Given the description of an element on the screen output the (x, y) to click on. 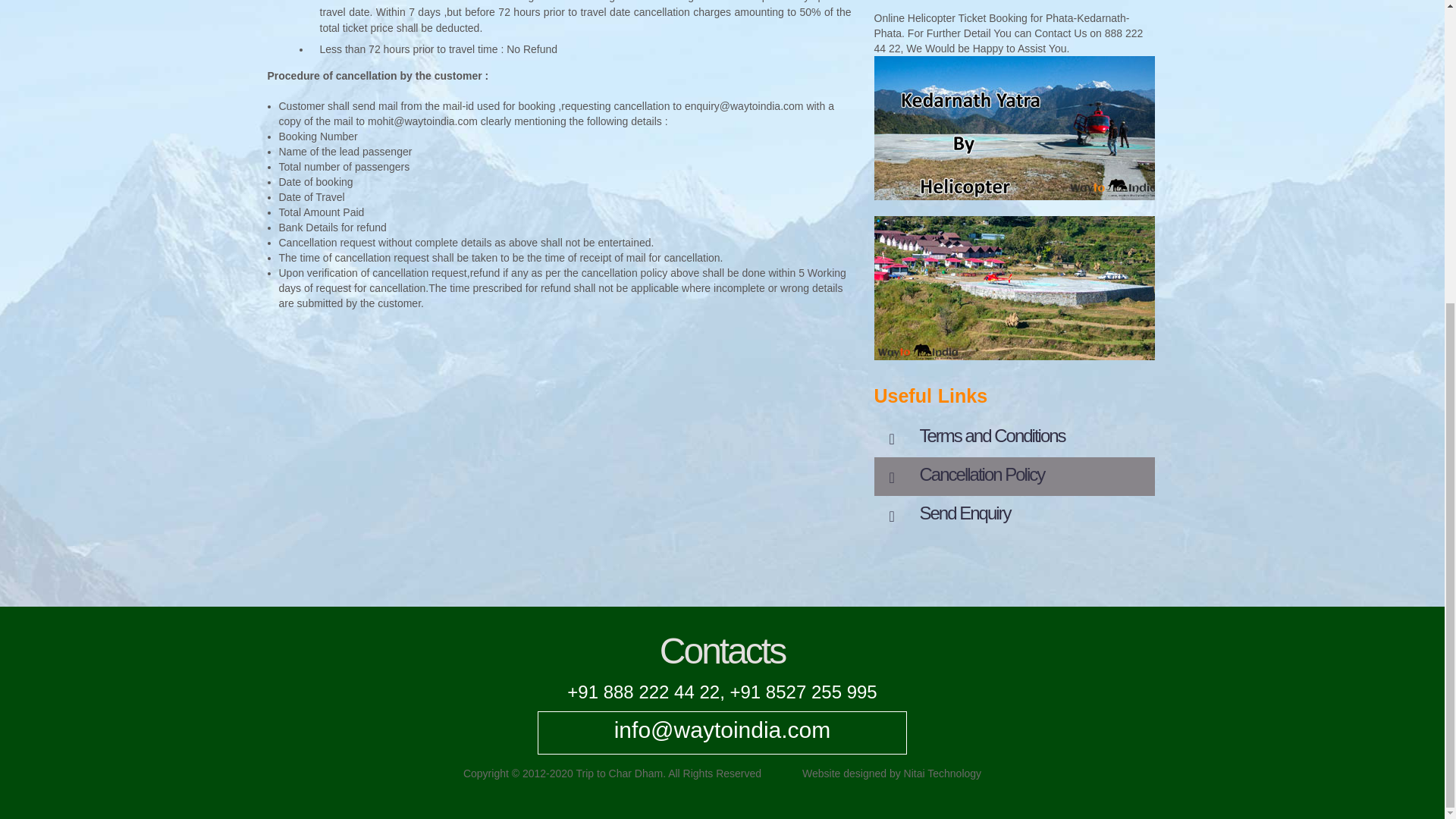
Terms and Conditions (1013, 437)
Send Enquiry (1013, 515)
Nitai Technology (942, 773)
Cancellation Policy (1013, 476)
